Given the description of an element on the screen output the (x, y) to click on. 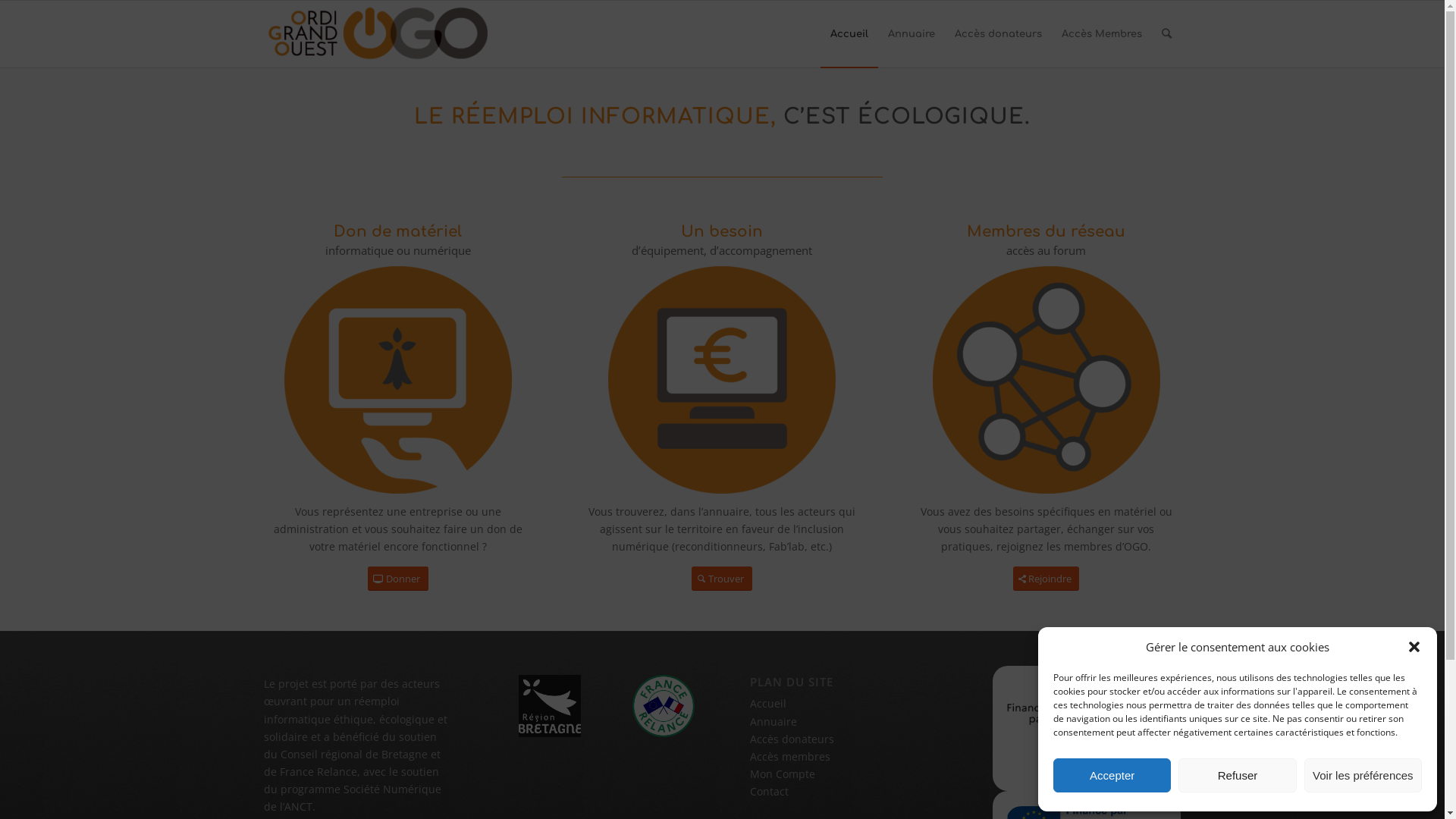
Annuaire Element type: text (911, 33)
Un besoin Element type: text (721, 231)
Mon Compte Element type: text (782, 773)
don Element type: hover (397, 379)
Accueil Element type: text (849, 33)
ordi Element type: hover (721, 379)
Donner Element type: text (397, 578)
Trouver Element type: text (721, 578)
Accueil Element type: text (767, 703)
Accepter Element type: text (1111, 775)
Annuaire Element type: text (773, 721)
Rejoindre Element type: text (1046, 578)
Contact Element type: text (768, 791)
Refuser Element type: text (1236, 775)
